Given the description of an element on the screen output the (x, y) to click on. 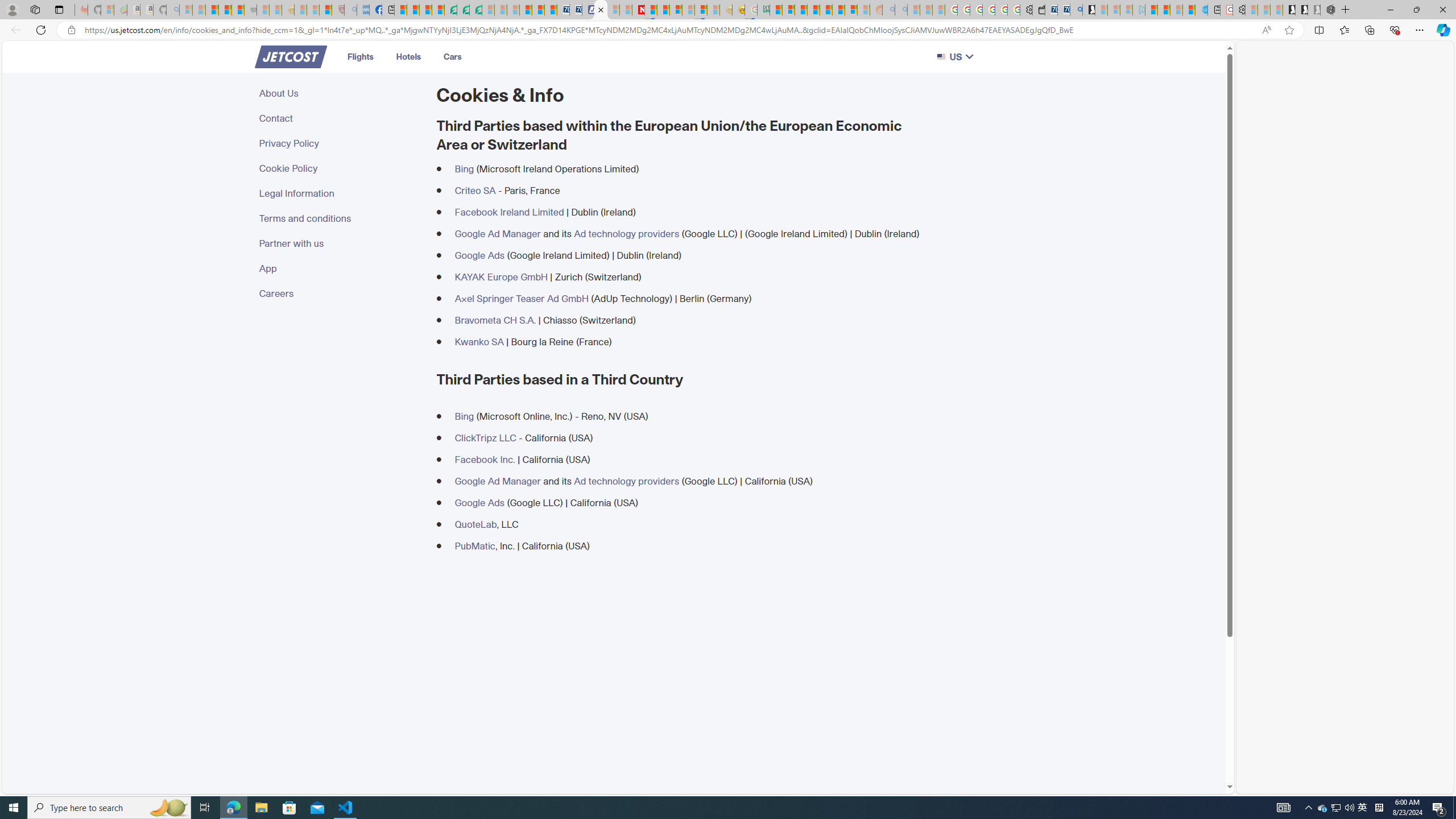
Bing Real Estate - Home sales and rental listings (1076, 9)
Partner with us (341, 242)
About Us (341, 92)
Google Ad Manager (497, 480)
Cookies & Info (600, 9)
Local - MSN (325, 9)
Flights (359, 56)
Contact (341, 118)
